Given the description of an element on the screen output the (x, y) to click on. 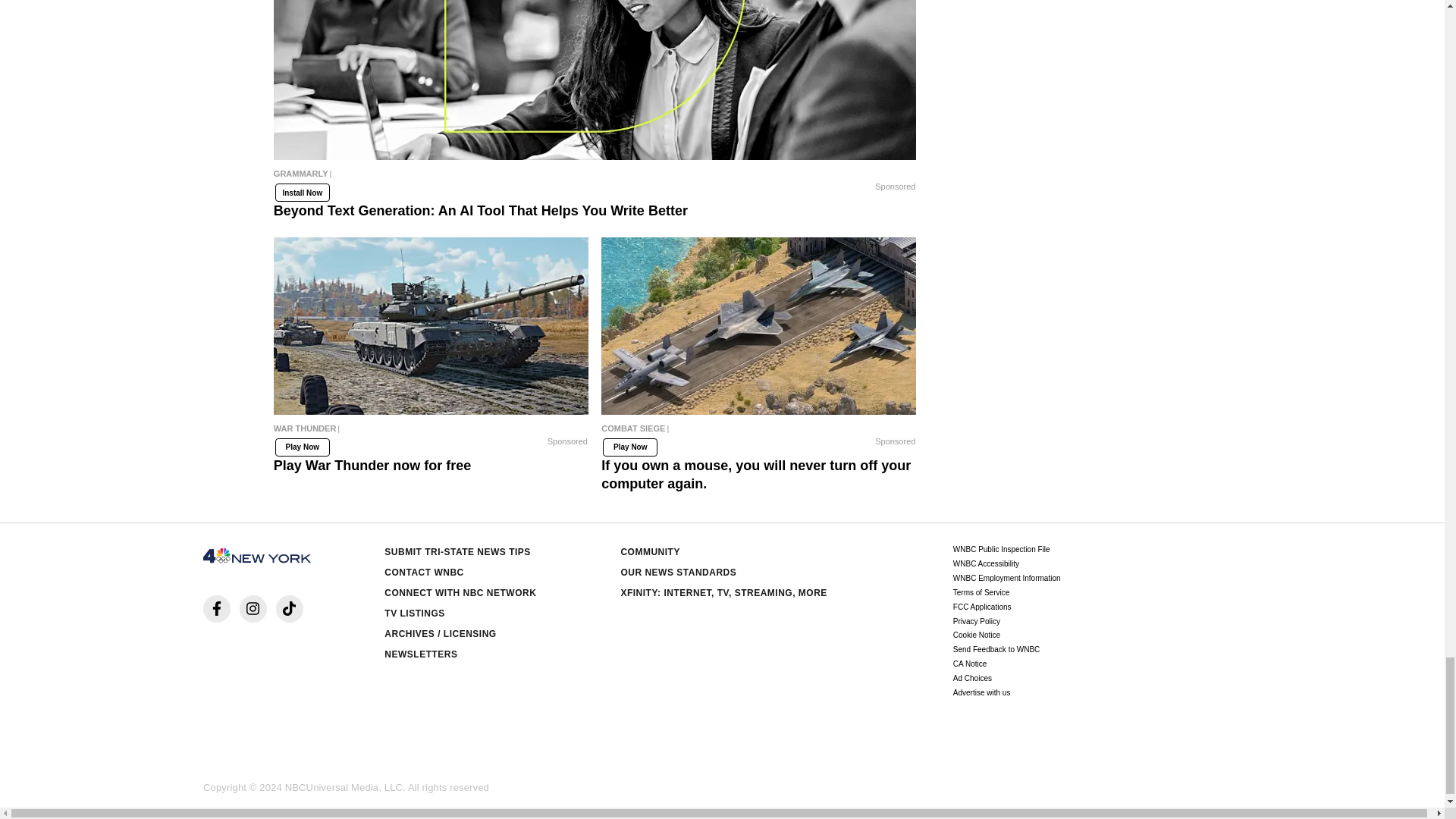
Play War Thunder now for free (430, 431)
